Given the description of an element on the screen output the (x, y) to click on. 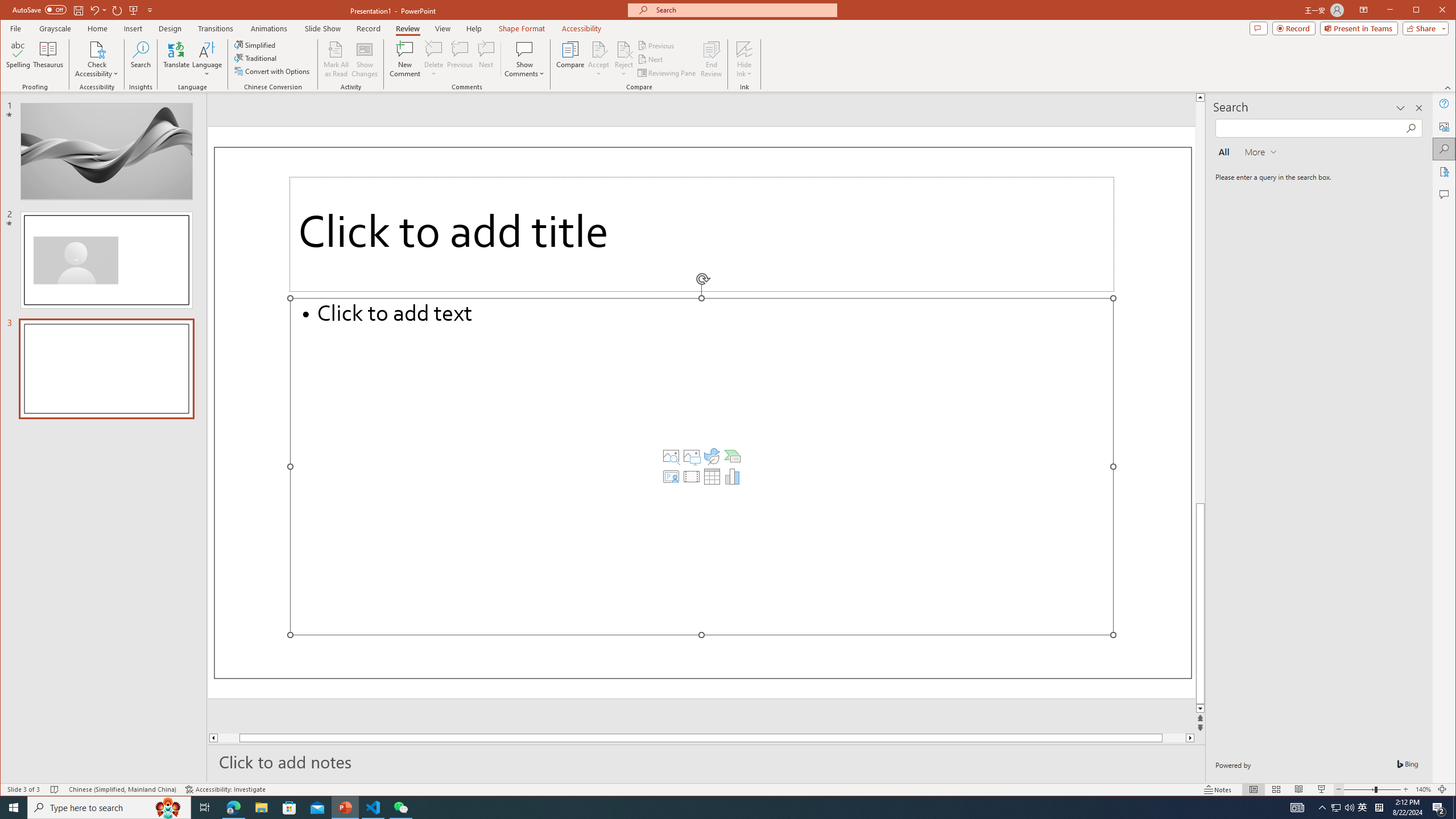
Show Comments (524, 48)
Slide Notes (706, 761)
Shape Format (521, 28)
Maximize (1432, 11)
Simplified (255, 44)
Zoom 140% (1422, 789)
Next (651, 59)
Microsoft Store (289, 807)
Accessibility (1444, 171)
